Given the description of an element on the screen output the (x, y) to click on. 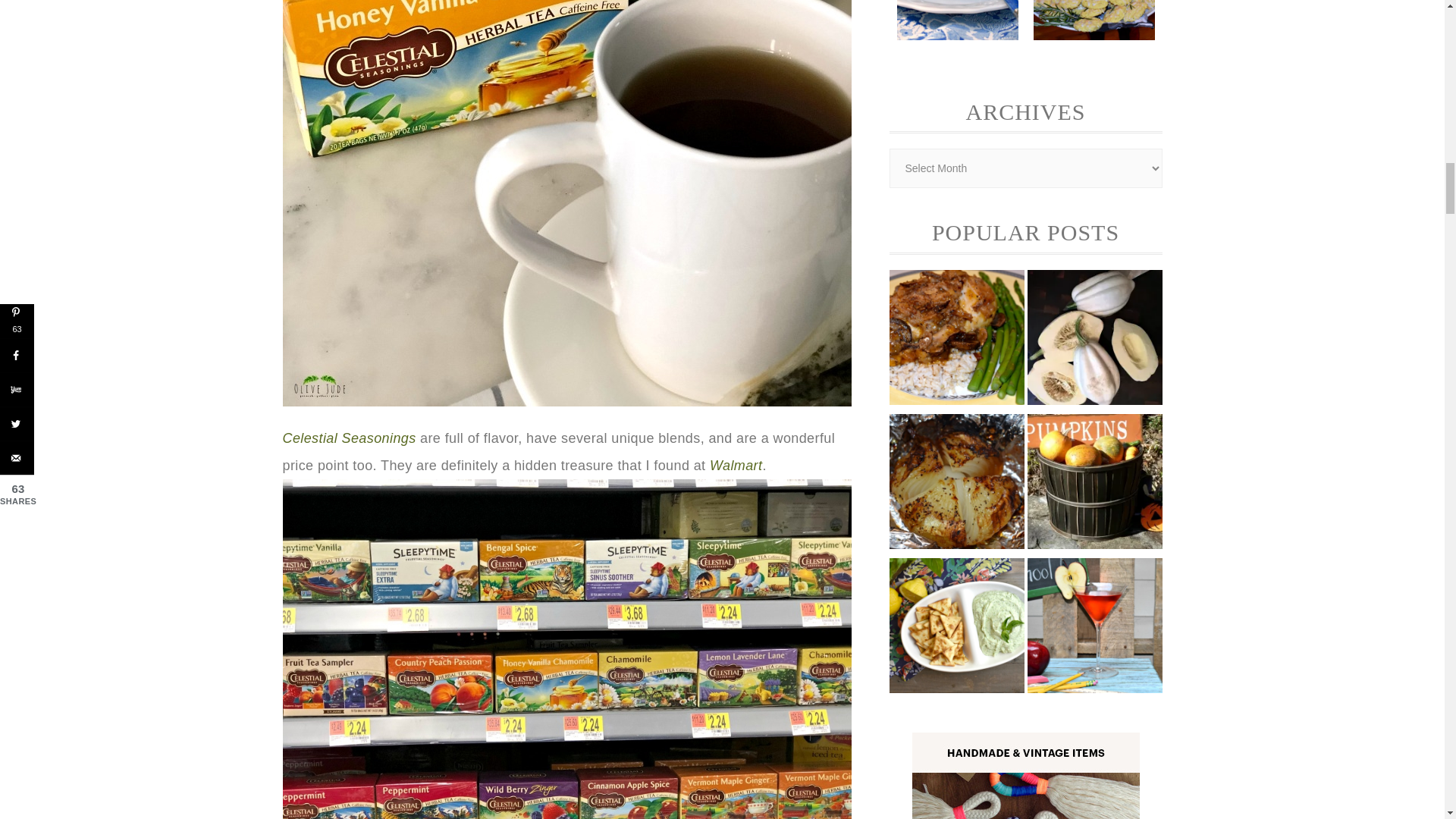
Host an Outdoor Fall Party that makes Kids and Adults Smile (1093, 484)
5 Minute Basil Cottage Cheese Dip (955, 628)
Back to School-tini (1093, 628)
Mashed Potato Squash (1093, 340)
Weeknight Golden Mushroom Baked Chicken (955, 340)
Dad's Summertime Grilled Vidalias (955, 484)
